Given the description of an element on the screen output the (x, y) to click on. 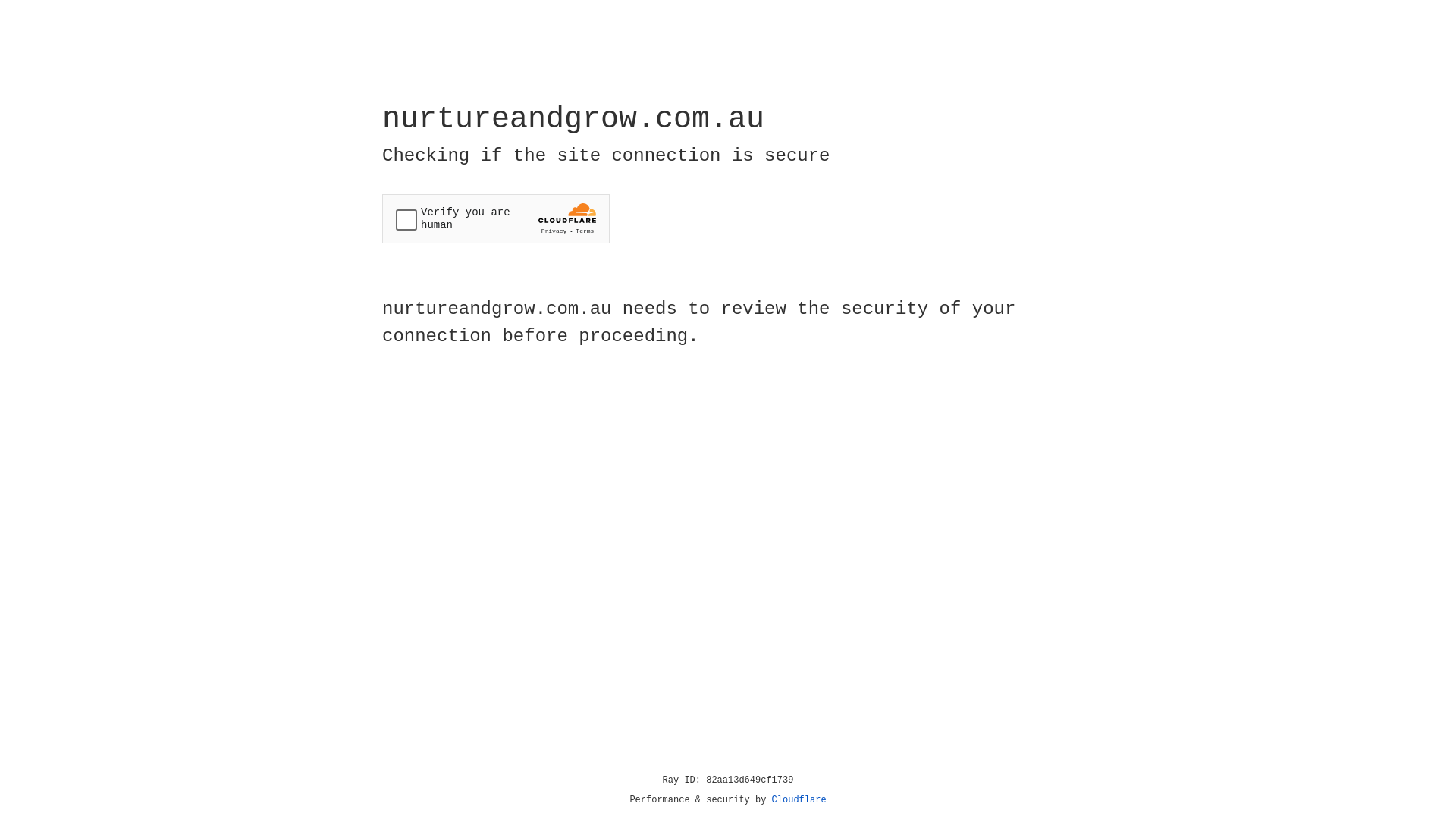
Widget containing a Cloudflare security challenge Element type: hover (495, 218)
Cloudflare Element type: text (798, 799)
